Given the description of an element on the screen output the (x, y) to click on. 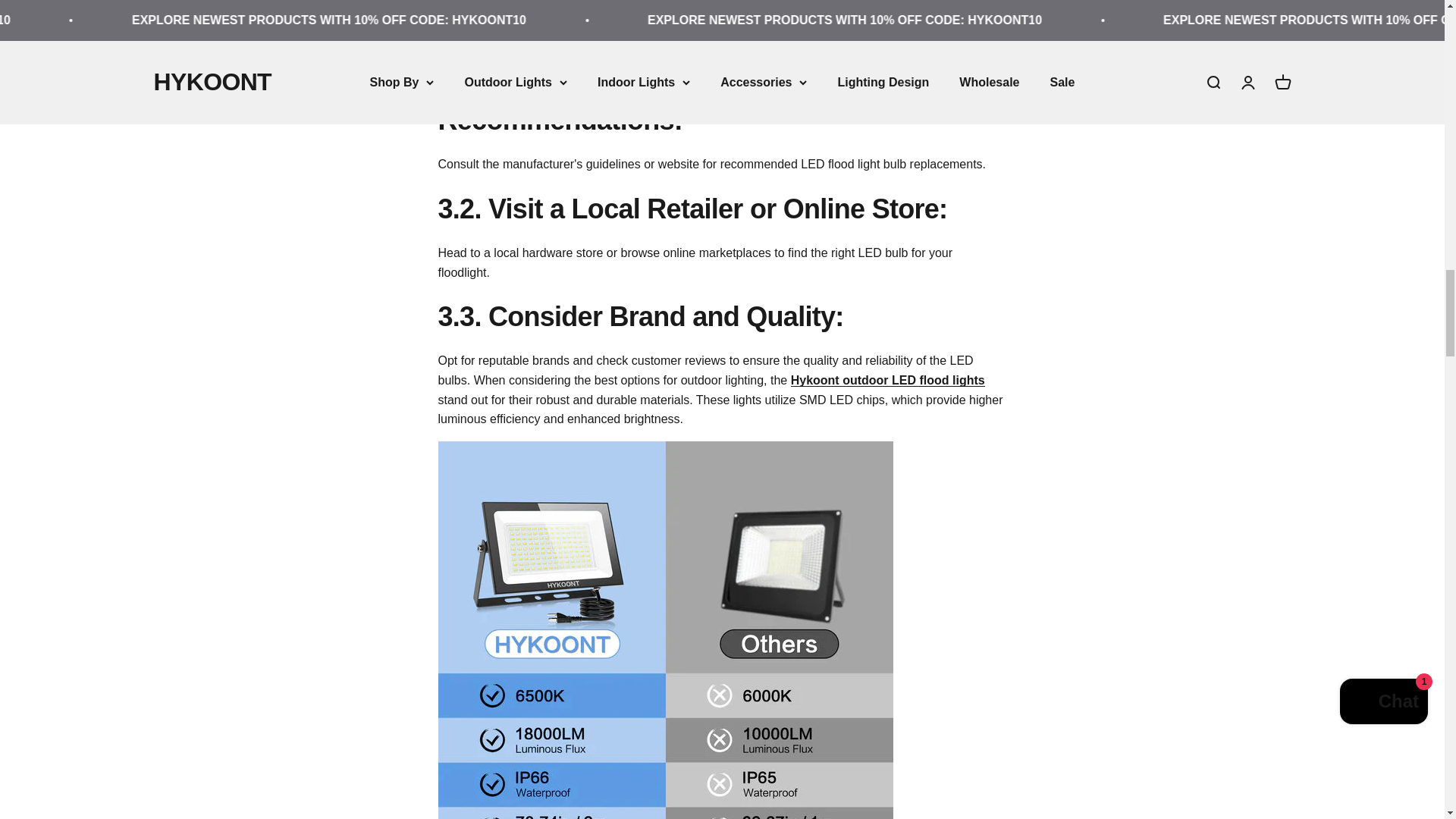
hykoont  outdoor led flood lights (887, 379)
